Given the description of an element on the screen output the (x, y) to click on. 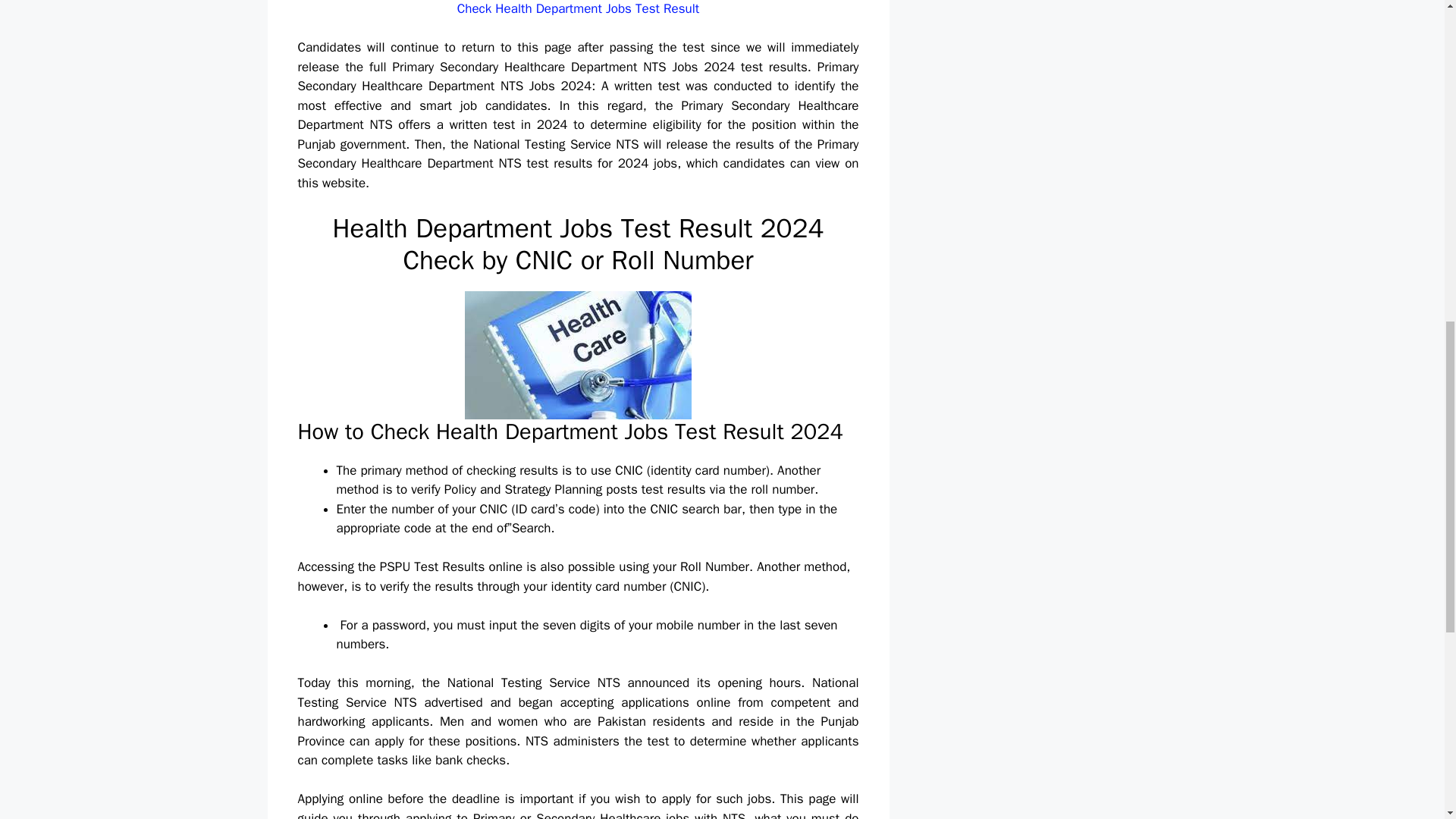
Check Health Department Jobs Test Result (577, 8)
